Given the description of an element on the screen output the (x, y) to click on. 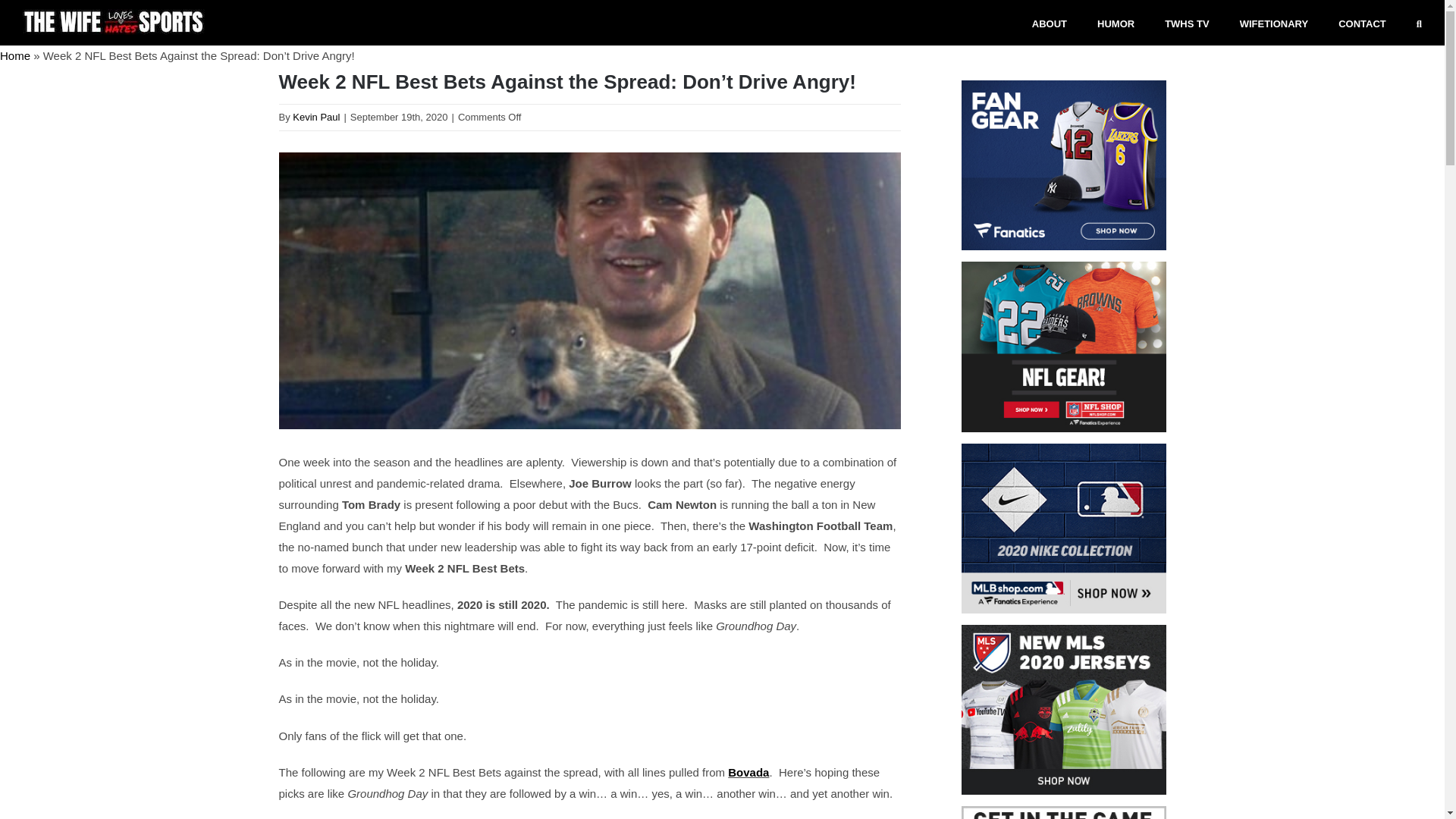
Posts by Kevin Paul (315, 116)
TWHS TV (1186, 22)
Kevin Paul (315, 116)
CONTACT (1362, 22)
Home (15, 55)
Bovada (748, 771)
WIFETIONARY (1274, 22)
